Given the description of an element on the screen output the (x, y) to click on. 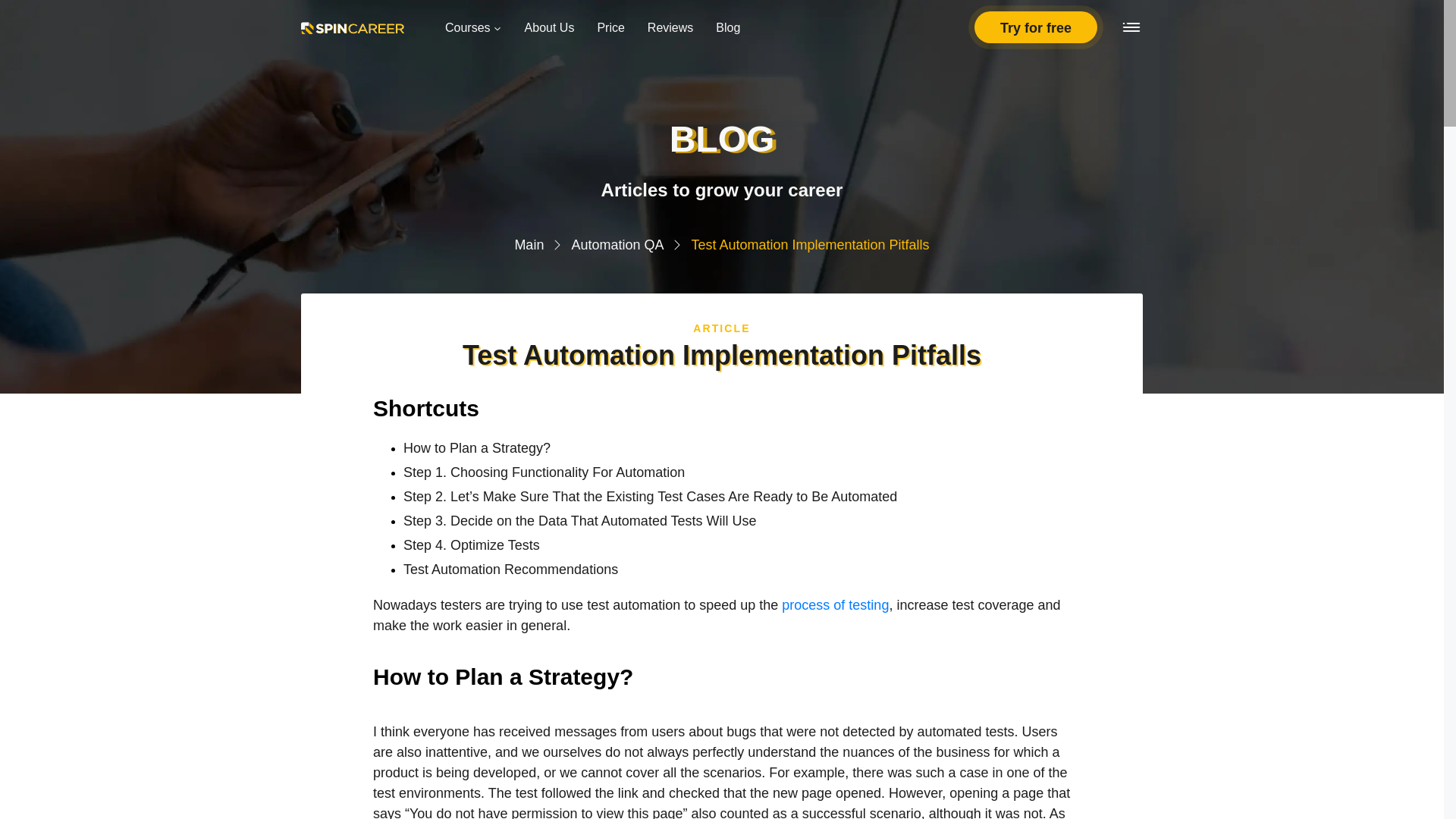
Main (528, 244)
process of testing (834, 604)
Test Automation Recommendations (736, 569)
Try for free (1035, 27)
Step 4. Optimize Tests (736, 545)
Automation QA (616, 244)
Price (610, 27)
How to Plan a Strategy? (736, 448)
About Us (549, 27)
Step 3. Decide on the Data That Automated Tests Will Use (736, 521)
